Given the description of an element on the screen output the (x, y) to click on. 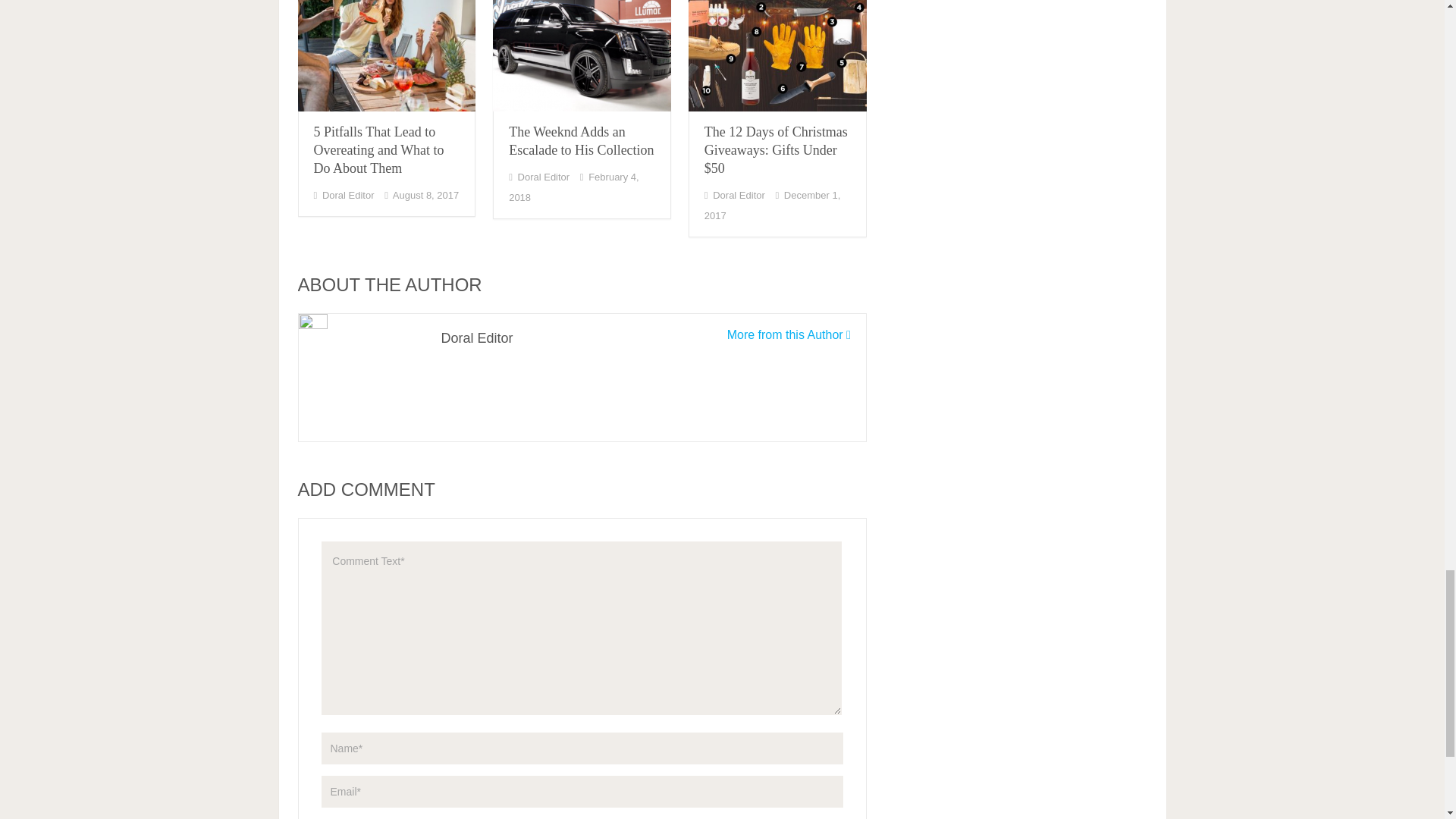
5 Pitfalls That Lead to Overeating and What to Do About Them (386, 55)
